Given the description of an element on the screen output the (x, y) to click on. 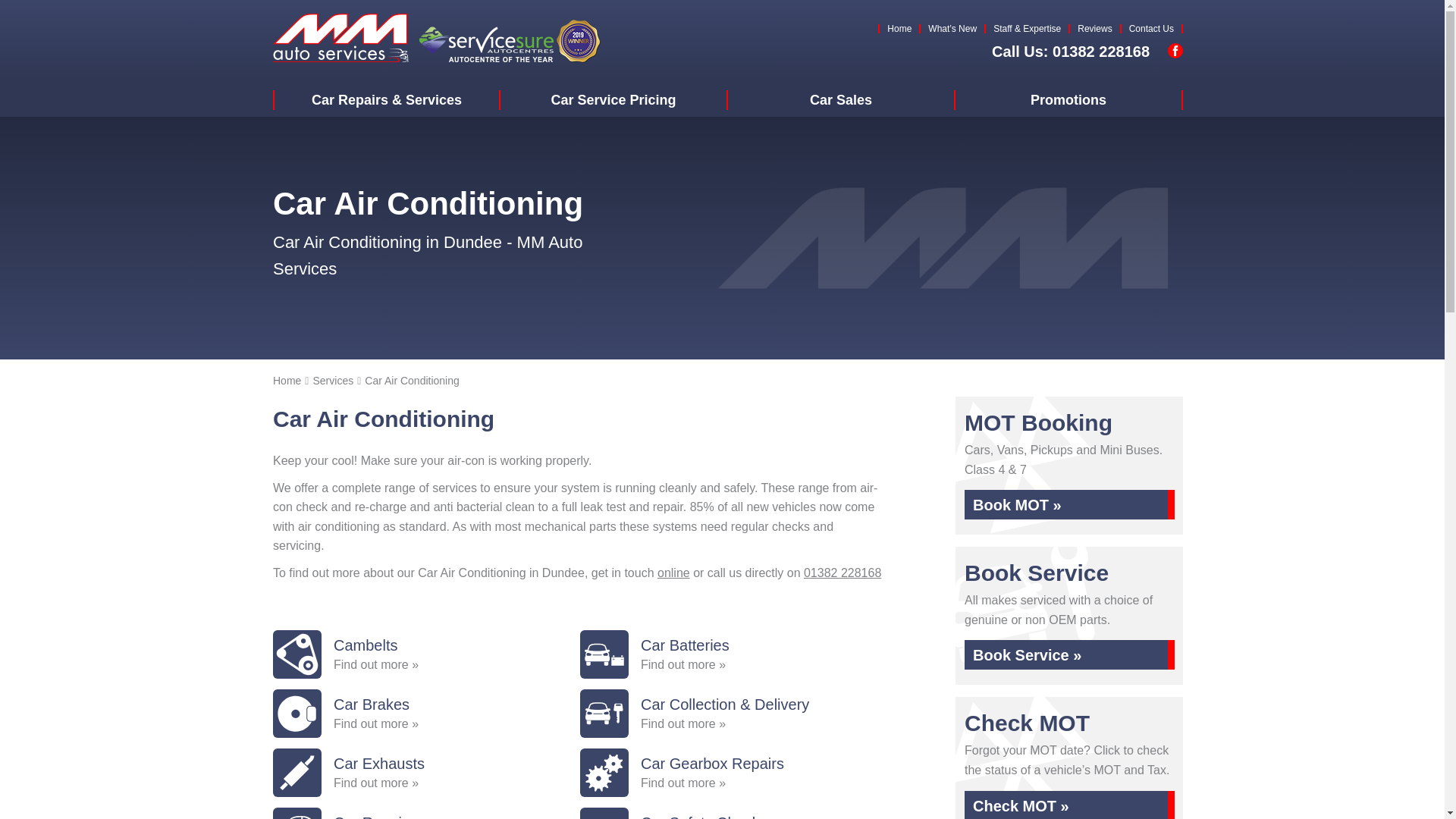
Reviews (1094, 28)
Home (898, 28)
Contact Us (1151, 28)
Call Us: 01382 228168 (1070, 51)
